Given the description of an element on the screen output the (x, y) to click on. 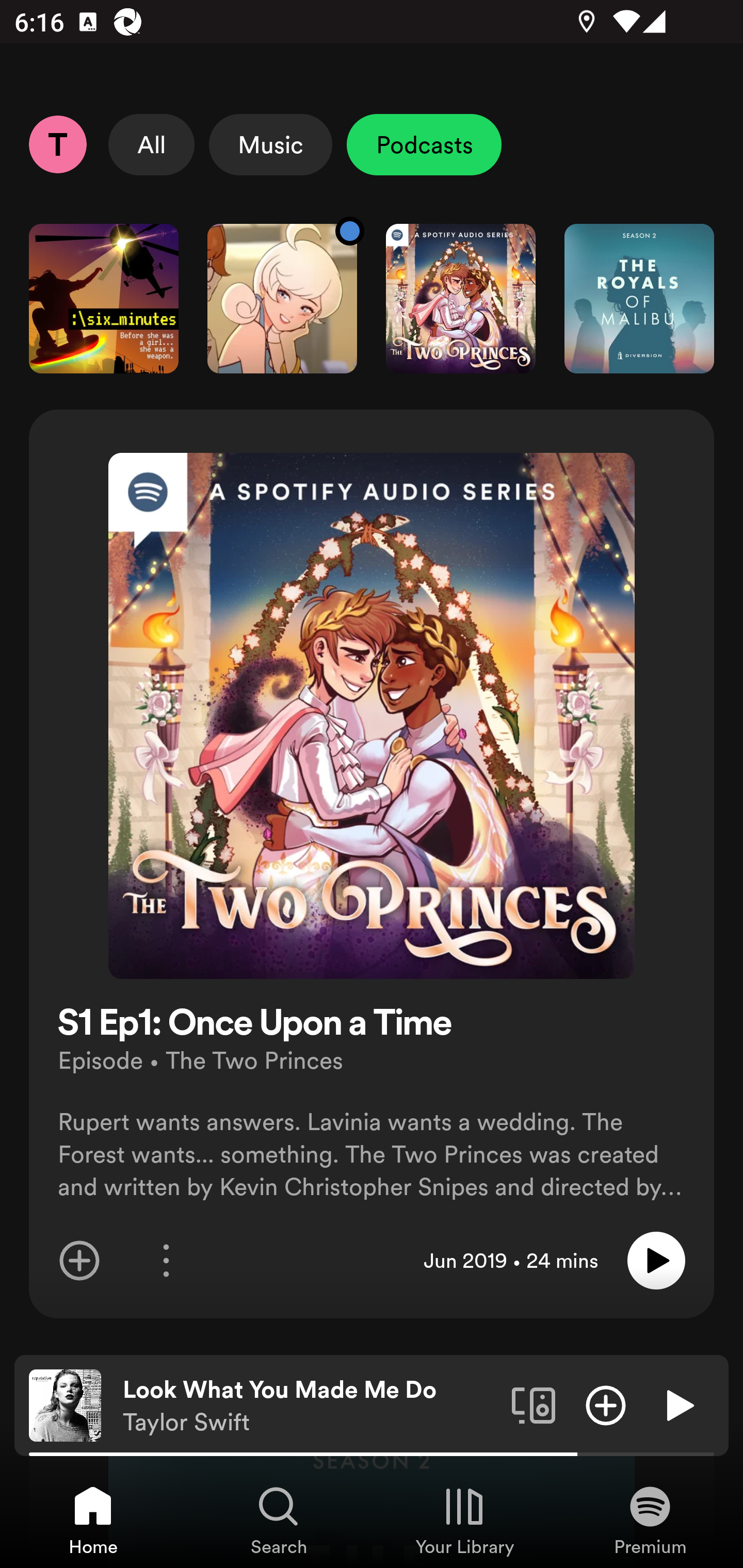
Profile (57, 144)
All Select All (151, 144)
Music Select Music (270, 144)
Podcasts Unselect Podcasts (423, 144)
Six Minutes (103, 298)
MSA  New content (281, 298)
The Two Princes (460, 298)
The Royals of Malibu (639, 298)
Add item (79, 1260)
Play (655, 1260)
Look What You Made Me Do Taylor Swift (309, 1405)
The cover art of the currently playing track (64, 1404)
Connect to a device. Opens the devices menu (533, 1404)
Add item (605, 1404)
Play (677, 1404)
Home, Tab 1 of 4 Home Home (92, 1519)
Search, Tab 2 of 4 Search Search (278, 1519)
Your Library, Tab 3 of 4 Your Library Your Library (464, 1519)
Premium, Tab 4 of 4 Premium Premium (650, 1519)
